Given the description of an element on the screen output the (x, y) to click on. 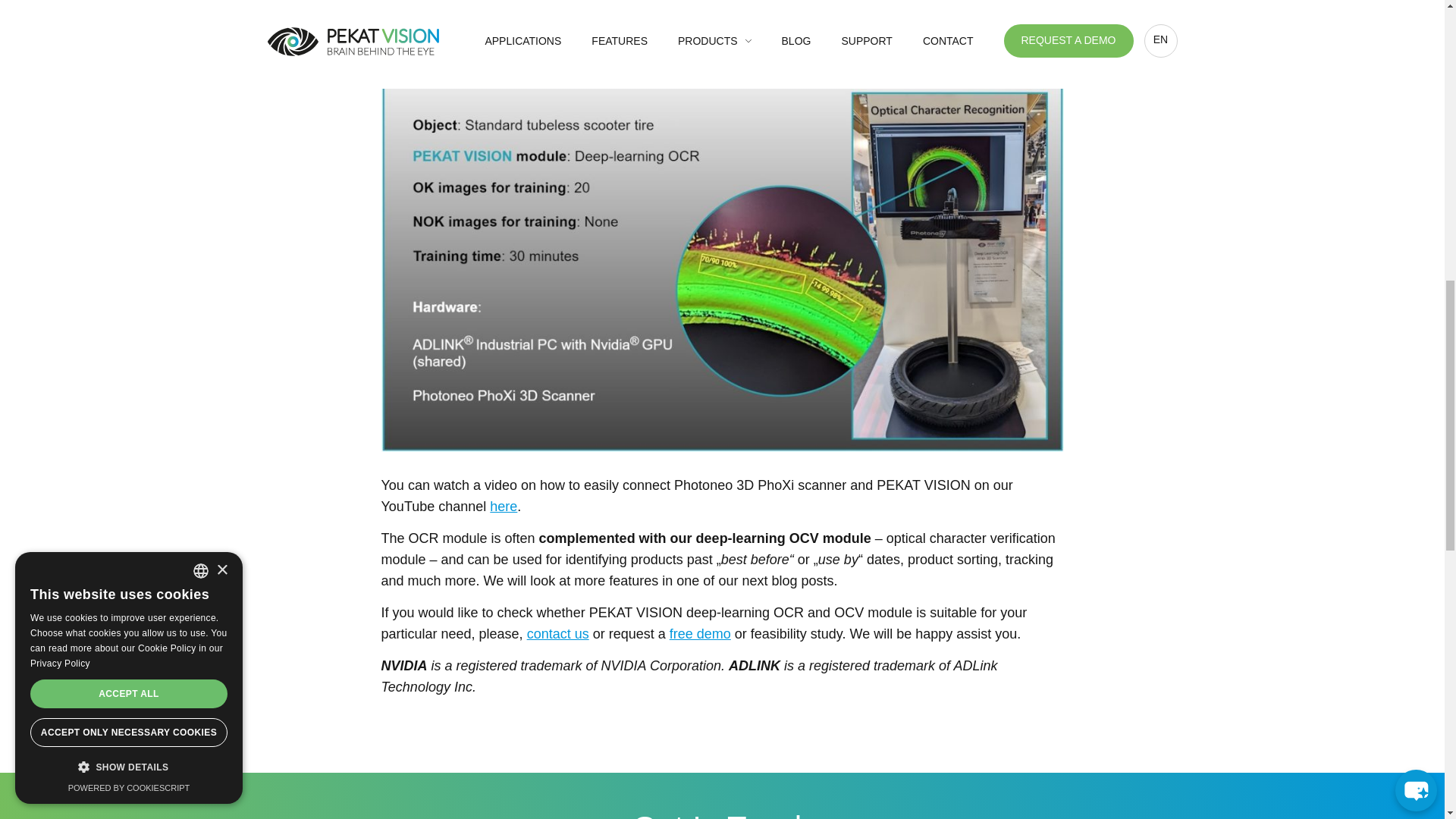
free demo (699, 633)
contact us (558, 633)
here (502, 506)
